Given the description of an element on the screen output the (x, y) to click on. 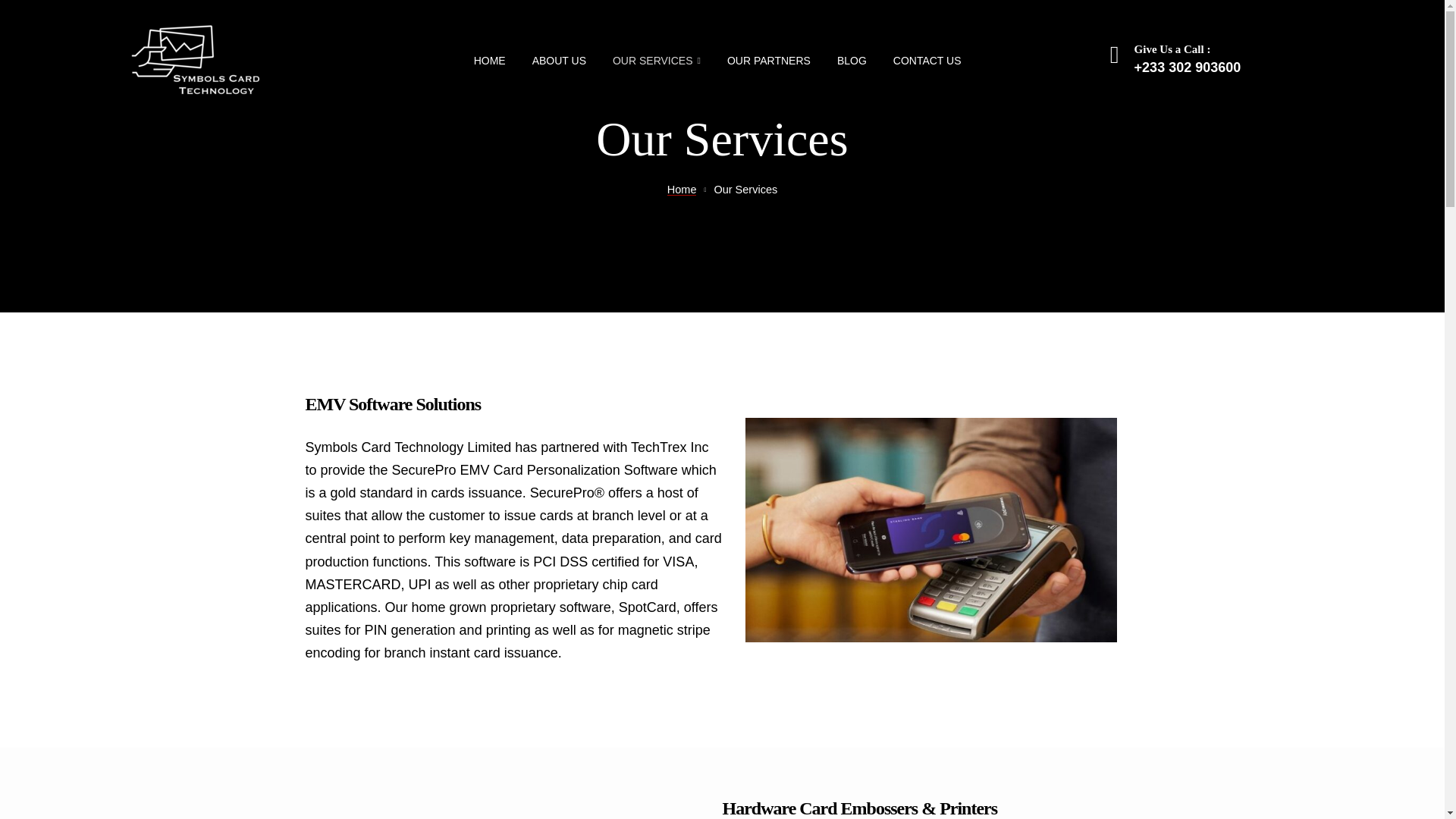
Go to Symbols Card Technology. (681, 189)
ABOUT US (559, 60)
OUR PARTNERS (768, 60)
OUR SERVICES (656, 60)
